Given the description of an element on the screen output the (x, y) to click on. 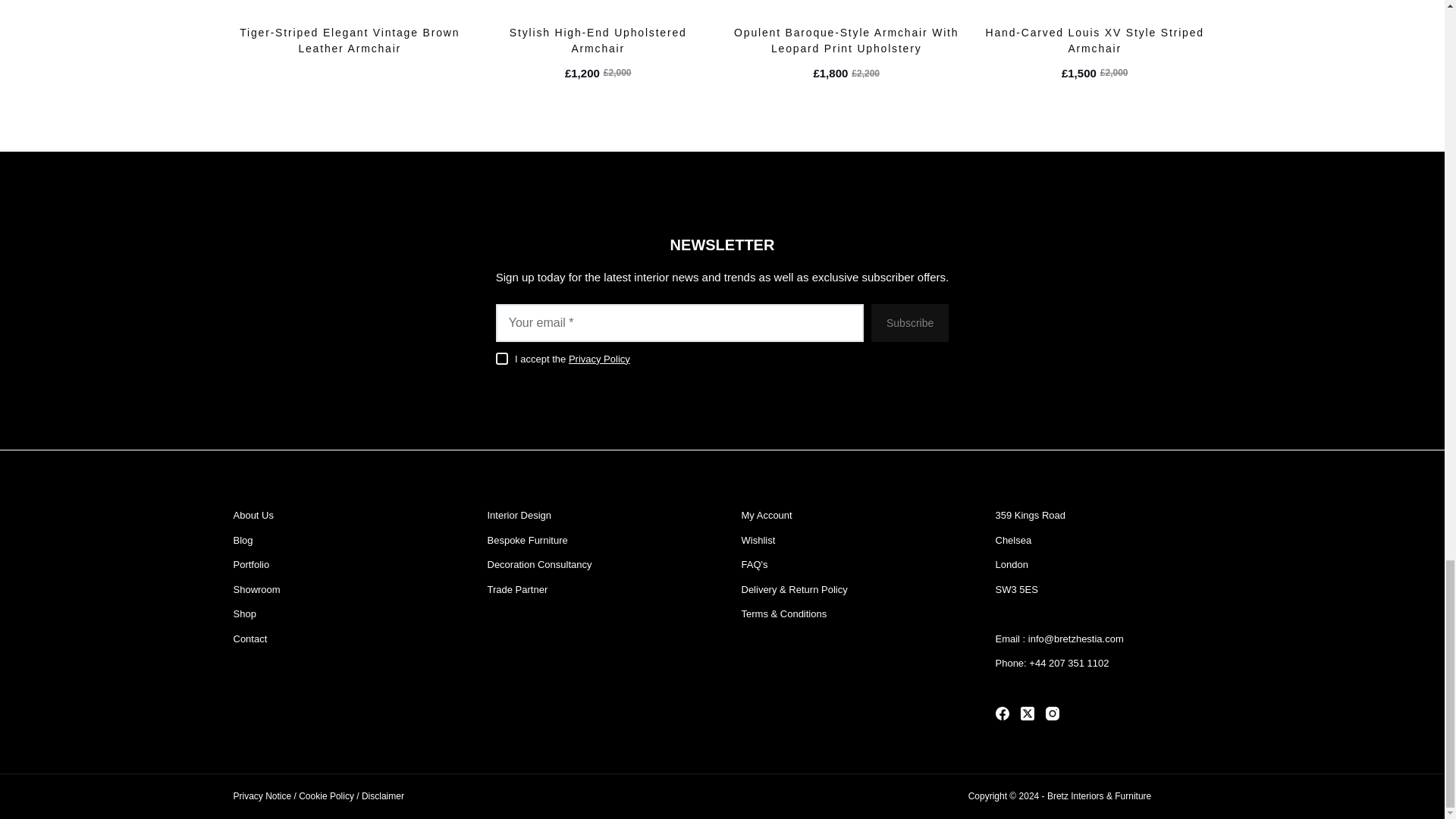
on (502, 358)
